Given the description of an element on the screen output the (x, y) to click on. 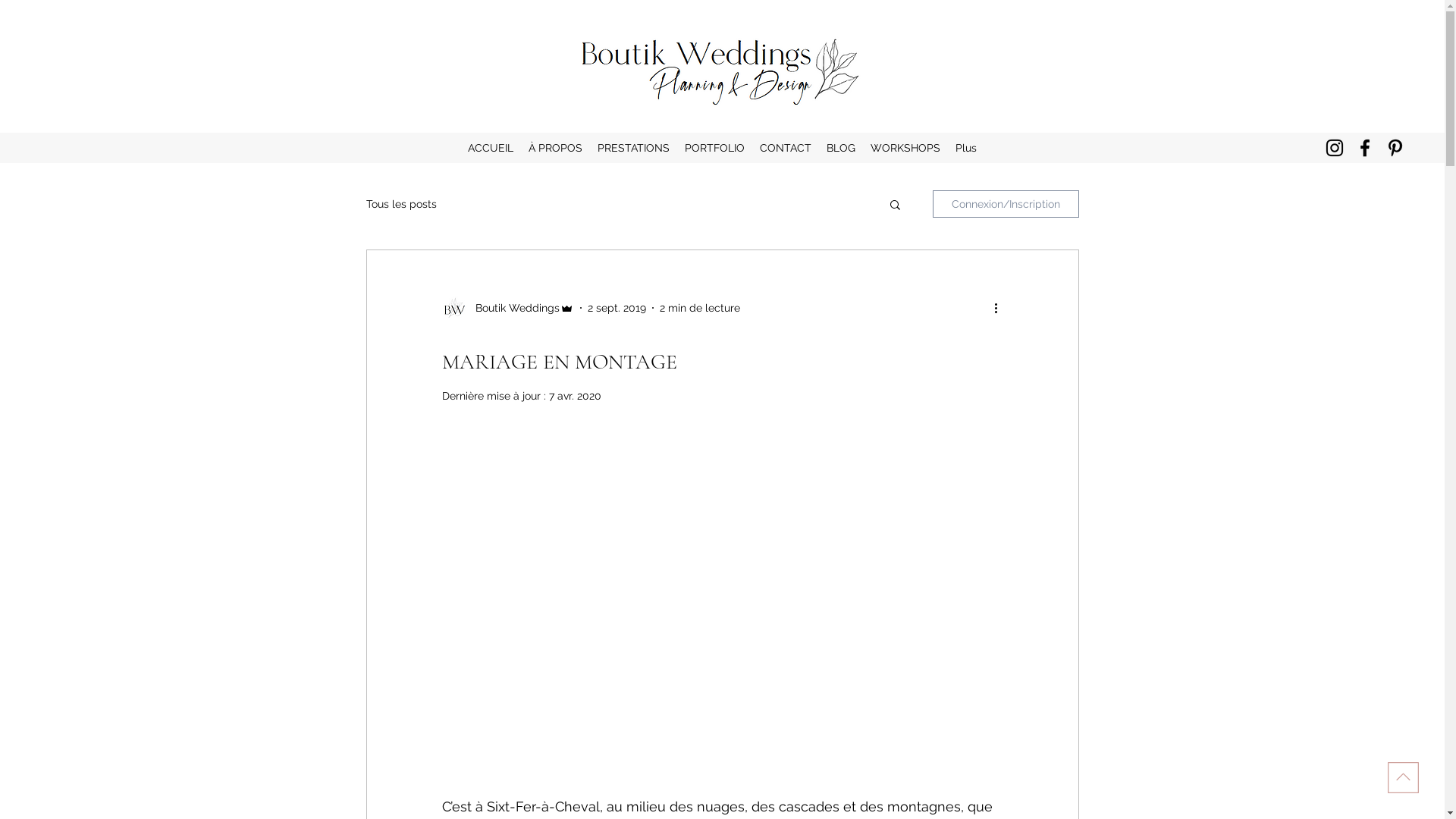
ACCUEIL Element type: text (490, 147)
PORTFOLIO Element type: text (714, 147)
CONTACT Element type: text (785, 147)
Tous les posts Element type: text (400, 203)
WORKSHOPS Element type: text (904, 147)
BLOG Element type: text (840, 147)
PRESTATIONS Element type: text (633, 147)
Connexion/Inscription Element type: text (1005, 203)
